Given the description of an element on the screen output the (x, y) to click on. 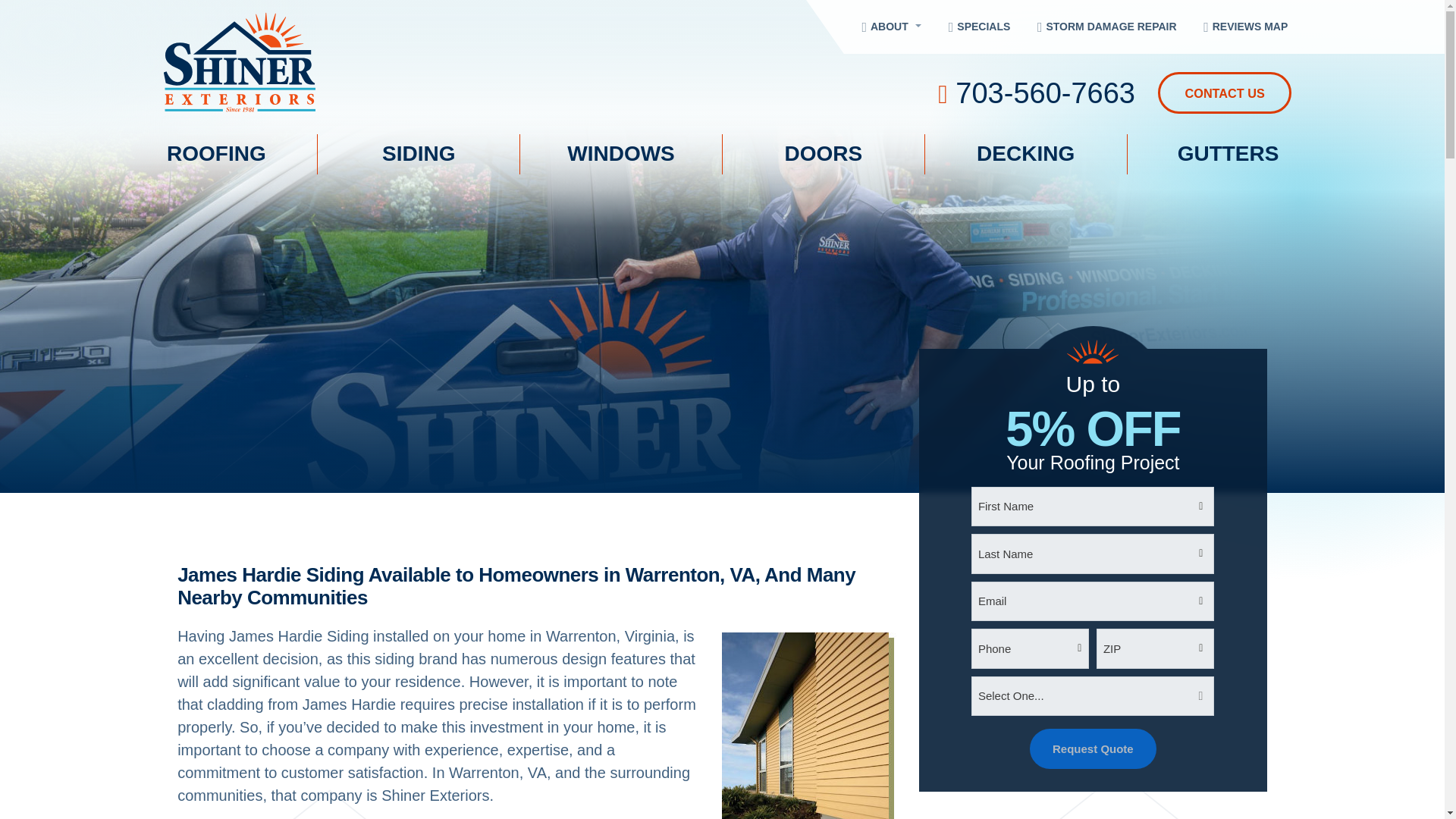
Request Quote (1092, 748)
Shiner Exteriors (357, 62)
